Given the description of an element on the screen output the (x, y) to click on. 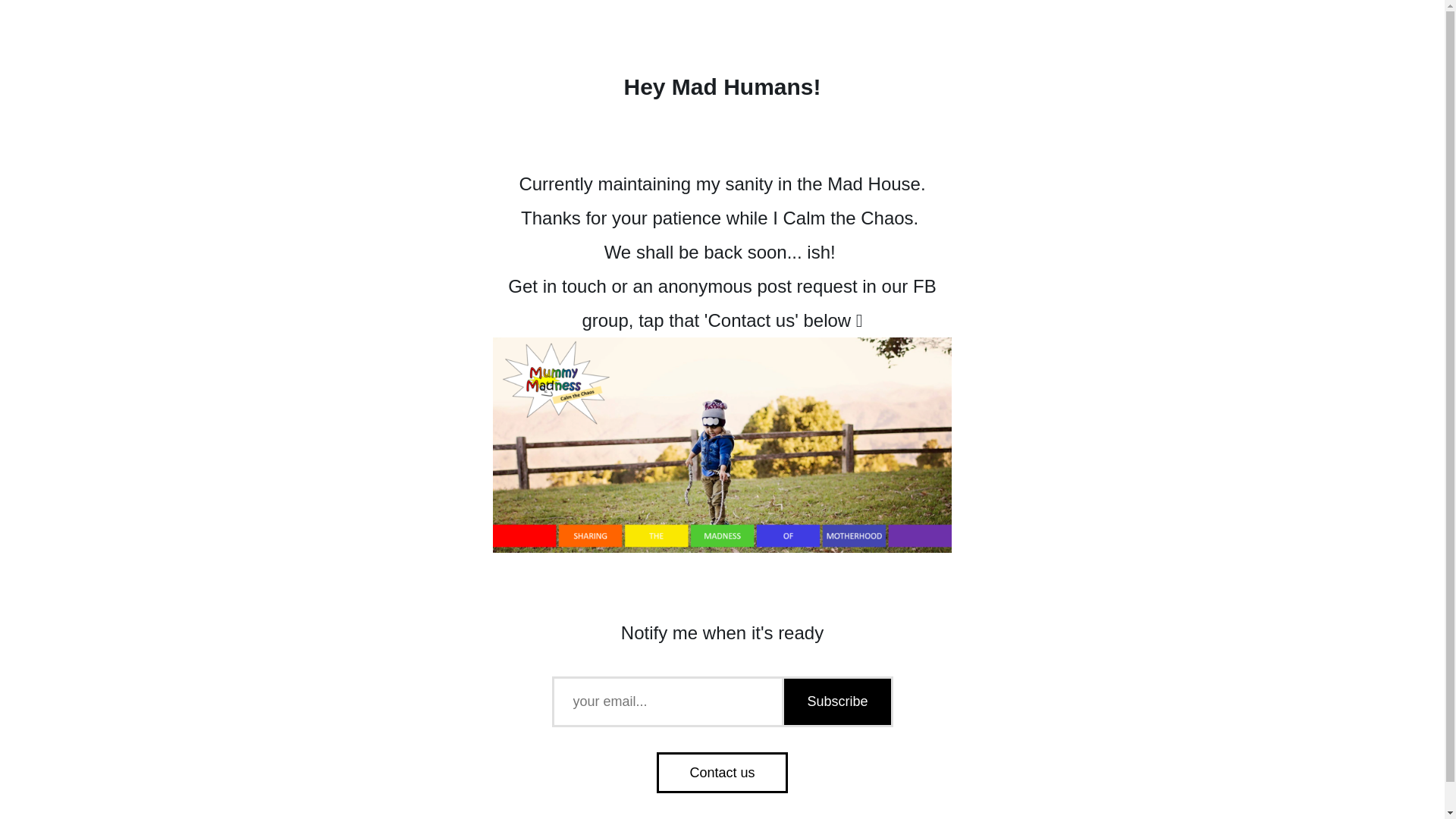
Contact us Element type: text (721, 772)
Subscribe Element type: text (835, 701)
